Given the description of an element on the screen output the (x, y) to click on. 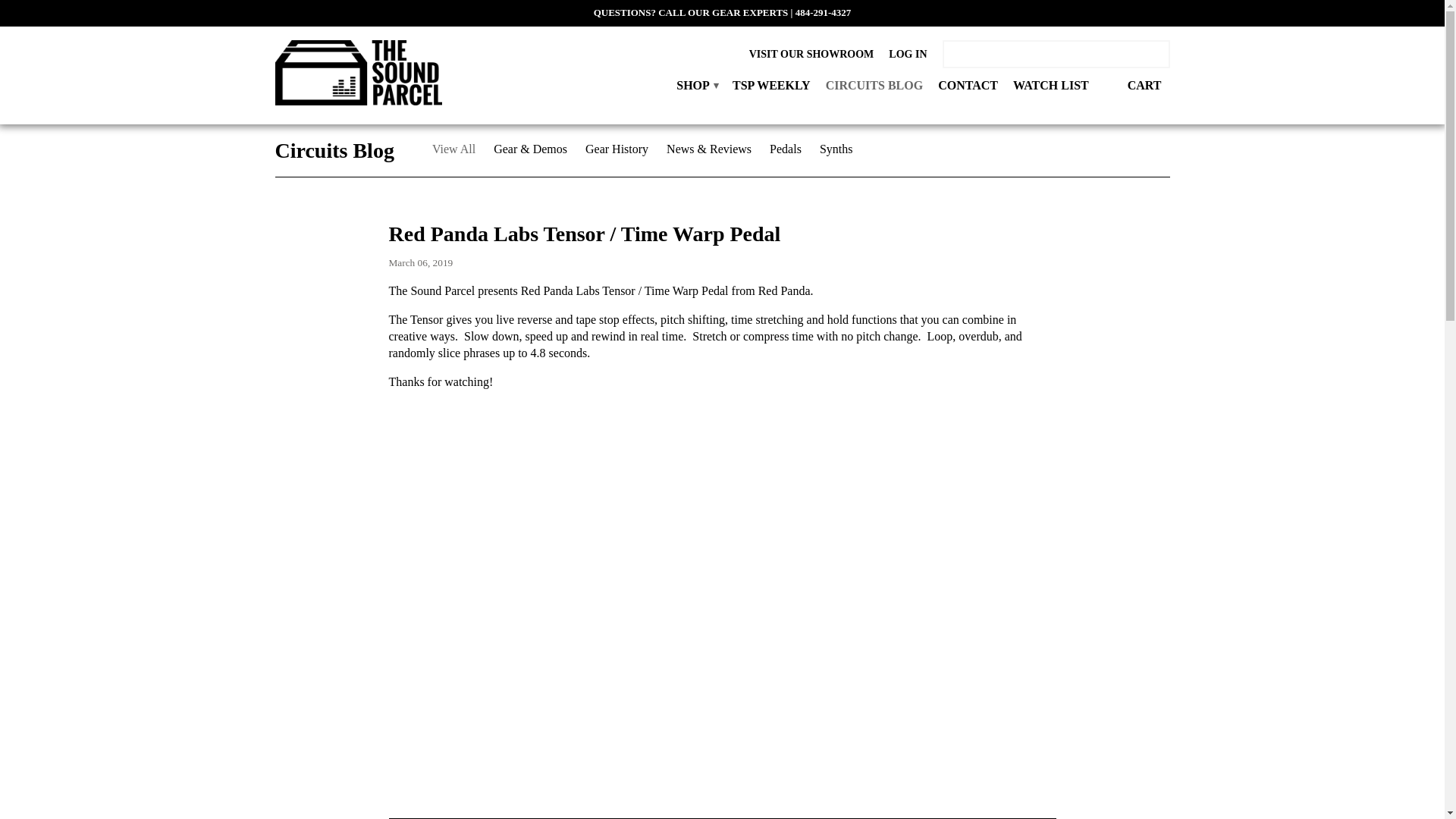
CIRCUITS BLOG (874, 88)
CONTACT (967, 88)
Cart (1136, 85)
484-291-4327 (822, 12)
The Sound Parcel (358, 74)
Visit Our Showroom (812, 57)
CART (1136, 85)
LOG IN (907, 57)
484-291-4327 (822, 12)
VISIT OUR SHOWROOM (812, 57)
